Given the description of an element on the screen output the (x, y) to click on. 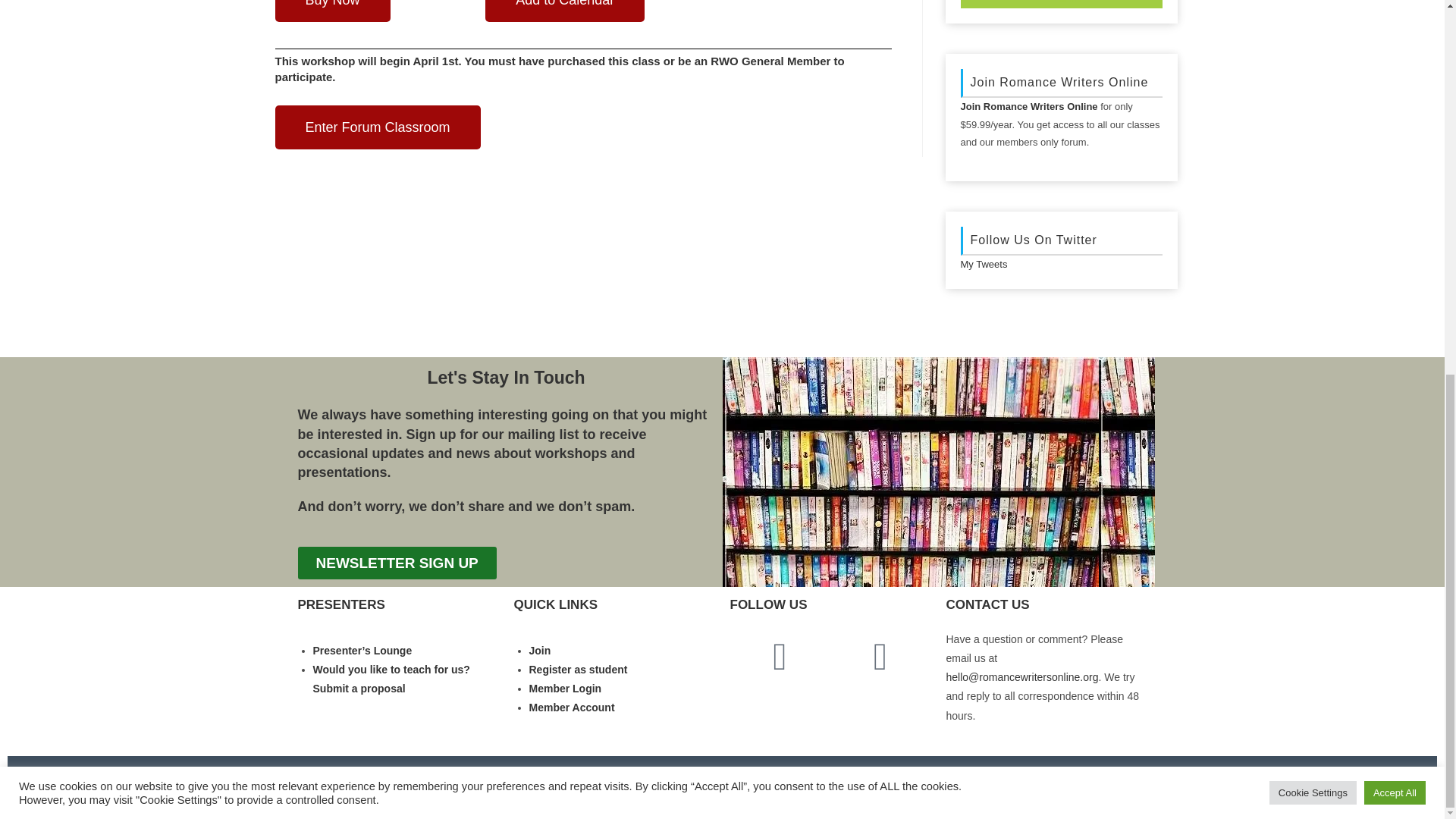
Enter Forum Classroom (377, 127)
Buy Now (332, 11)
Join Romance Writers Online (1028, 106)
Add to Calendar (564, 11)
